Given the description of an element on the screen output the (x, y) to click on. 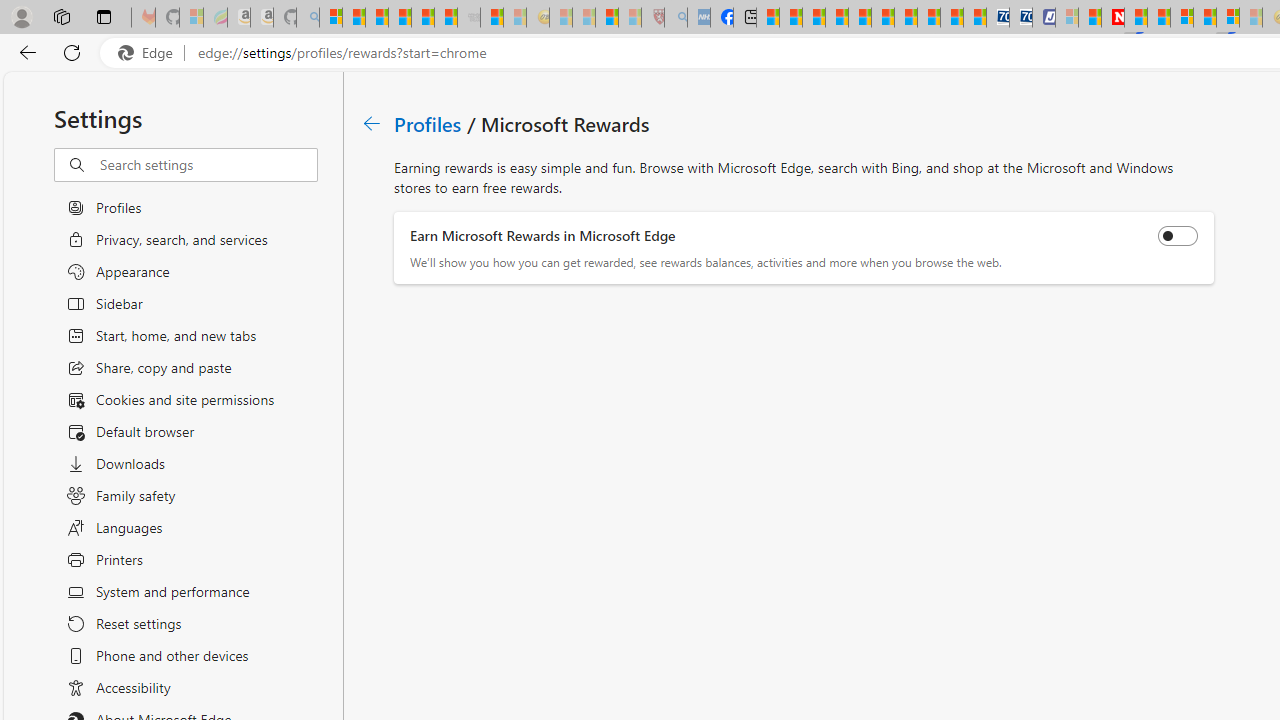
Search settings (207, 165)
Earn Microsoft Rewards in Microsoft Edge (1178, 236)
New Report Confirms 2023 Was Record Hot | Watch (422, 17)
Latest Politics News & Archive | Newsweek.com (1112, 17)
The Weather Channel - MSN (376, 17)
Edge (150, 53)
14 Common Myths Debunked By Scientific Facts (1158, 17)
Combat Siege - Sleeping (468, 17)
